Given the description of an element on the screen output the (x, y) to click on. 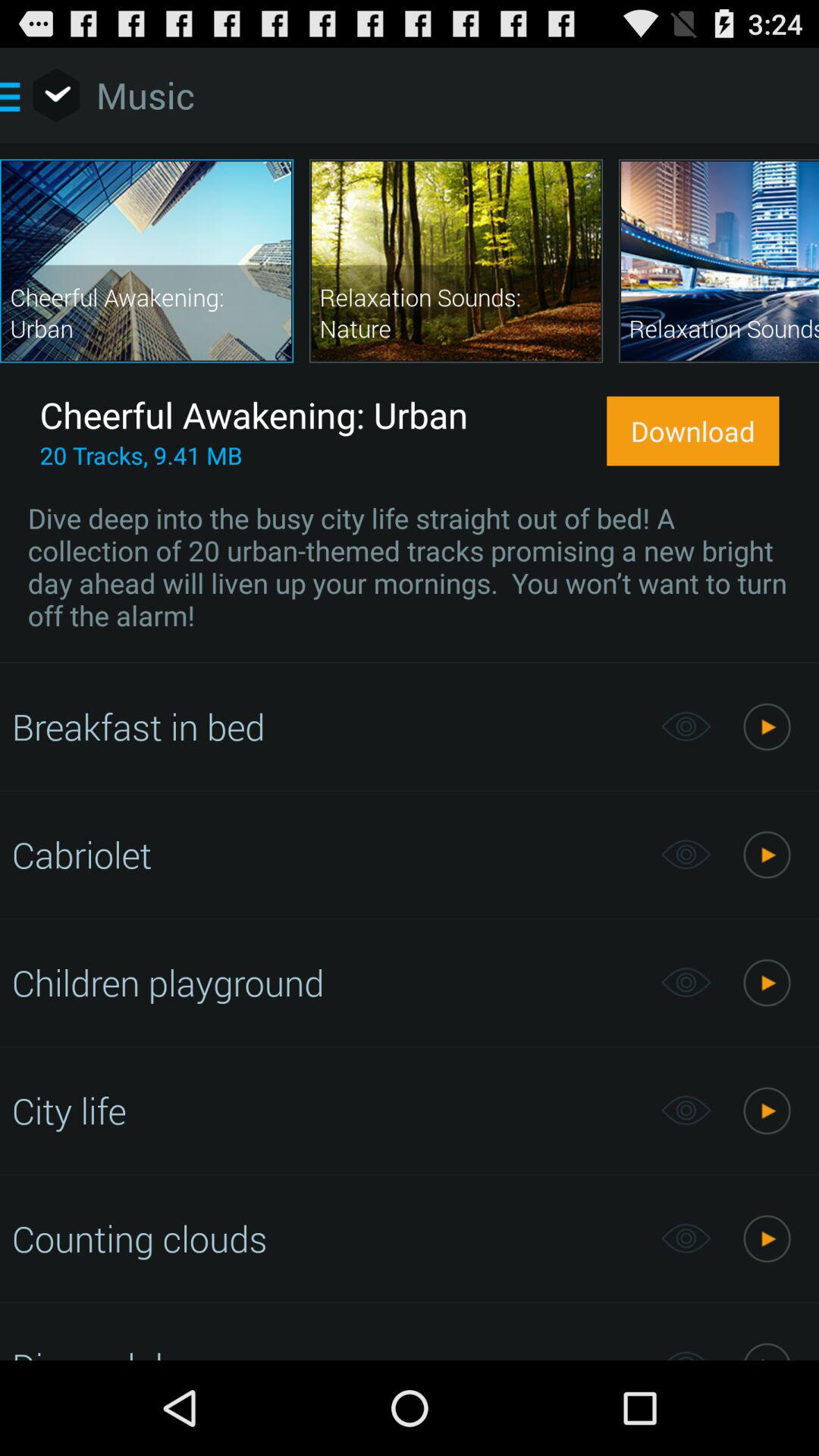
press the children playground (327, 982)
